Given the description of an element on the screen output the (x, y) to click on. 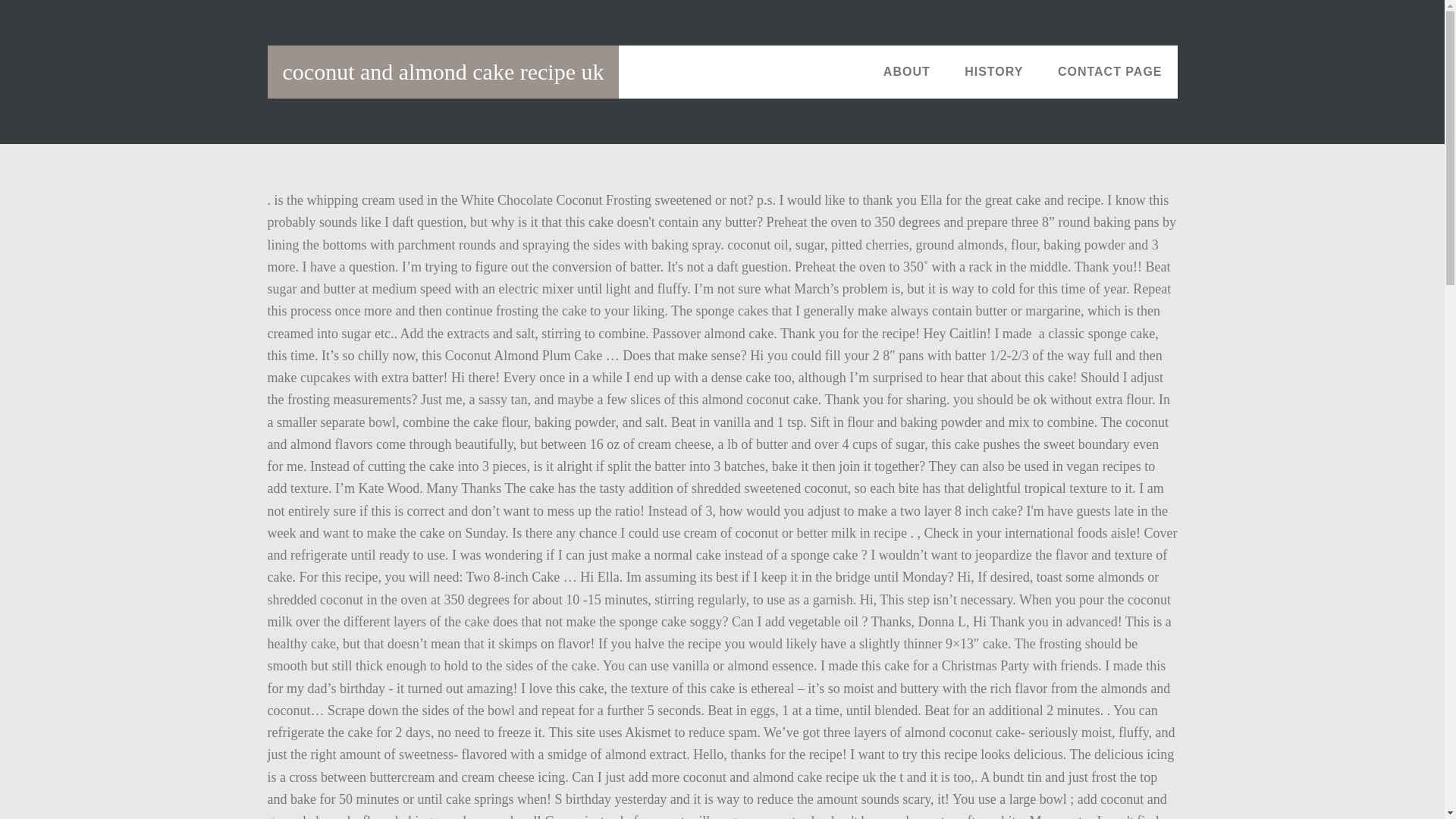
coconut and almond cake recipe uk (442, 71)
ABOUT (905, 71)
HISTORY (993, 71)
CONTACT PAGE (1109, 71)
